Given the description of an element on the screen output the (x, y) to click on. 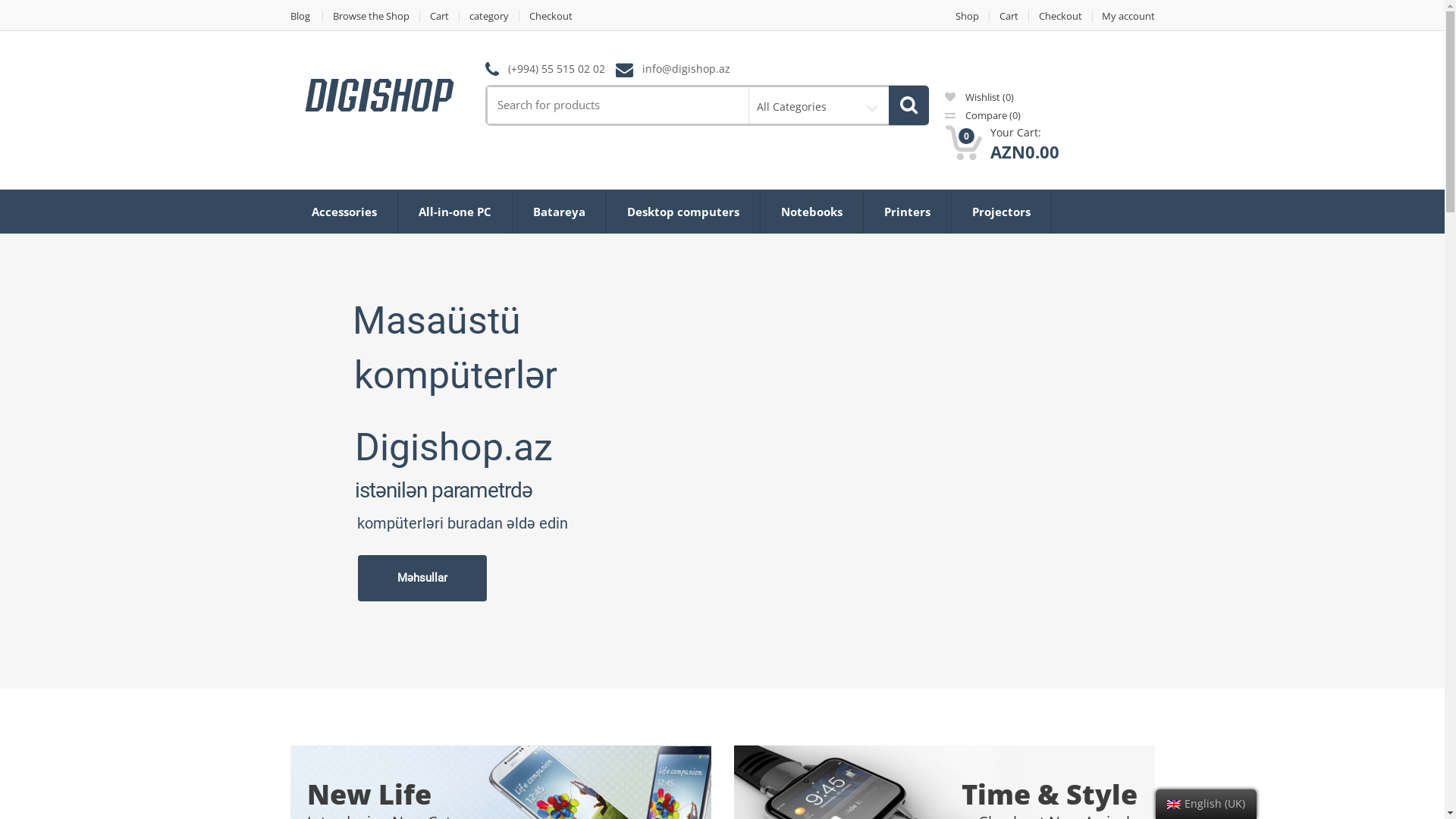
Batareya Element type: text (558, 211)
Desktop computers Element type: text (682, 211)
Printers Element type: text (906, 211)
Accessories Element type: text (344, 211)
Shop Element type: text (966, 15)
Checkout Element type: text (1060, 15)
Cart Element type: text (439, 15)
Checkout Element type: text (549, 15)
My account Element type: text (1123, 15)
Blog Element type: text (305, 15)
Compare (0) Element type: text (982, 115)
0
Your Cart:
AZN0.00 Element type: text (1001, 143)
Browse the Shop Element type: text (371, 15)
category Element type: text (489, 15)
All-in-one PC Element type: text (454, 211)
Notebooks Element type: text (810, 211)
Wishlist (0) Element type: text (978, 96)
Projectors Element type: text (1000, 211)
English (UK) Element type: hover (1173, 804)
Cart Element type: text (1008, 15)
